Given the description of an element on the screen output the (x, y) to click on. 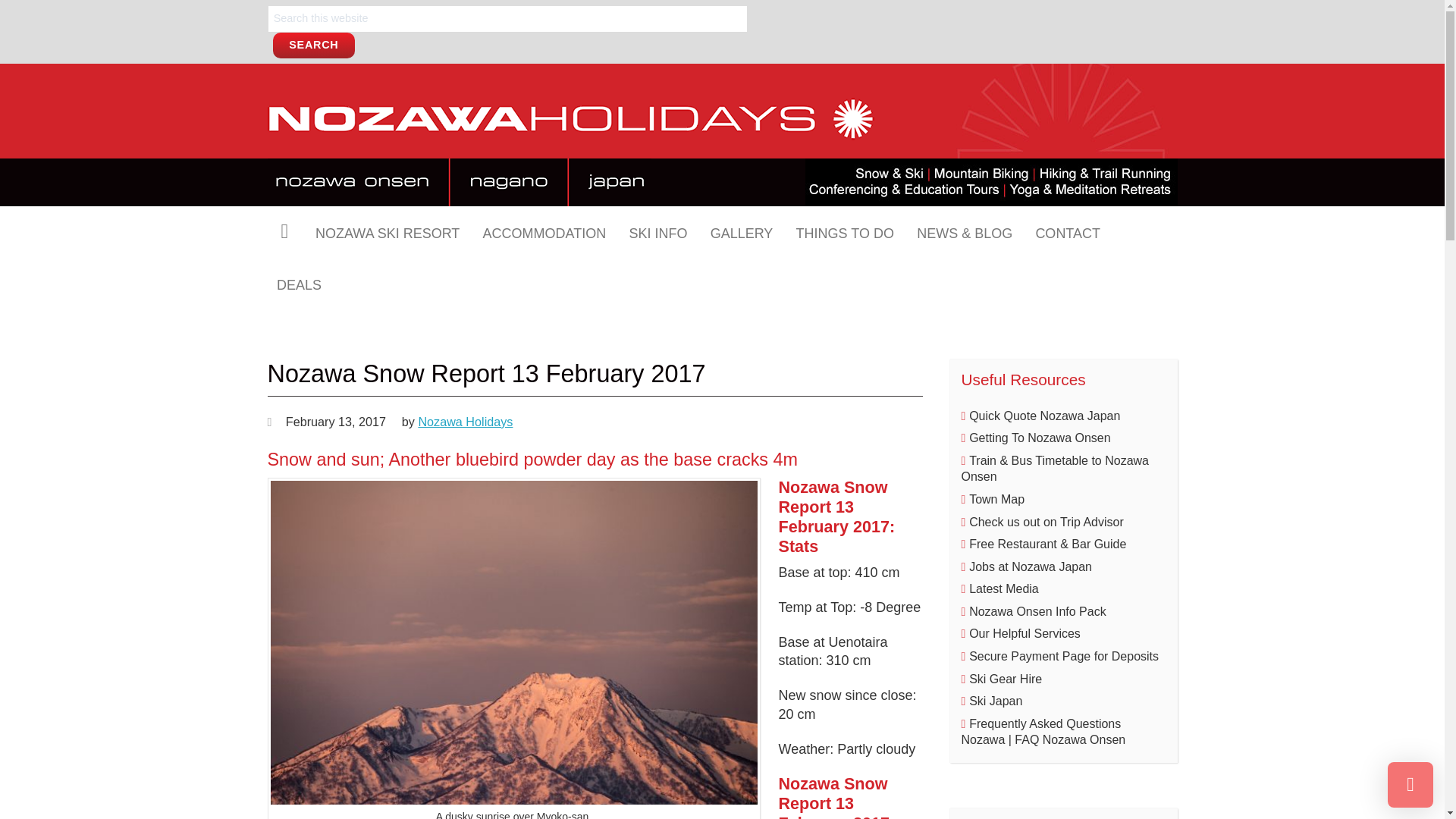
NOZAWA SKI RESORT (386, 232)
Search (314, 45)
ACCOMMODATION (544, 232)
GALLERY (741, 232)
Search (314, 45)
Search (314, 45)
Nozawa Holidays (569, 135)
SKI INFO (658, 232)
